Given the description of an element on the screen output the (x, y) to click on. 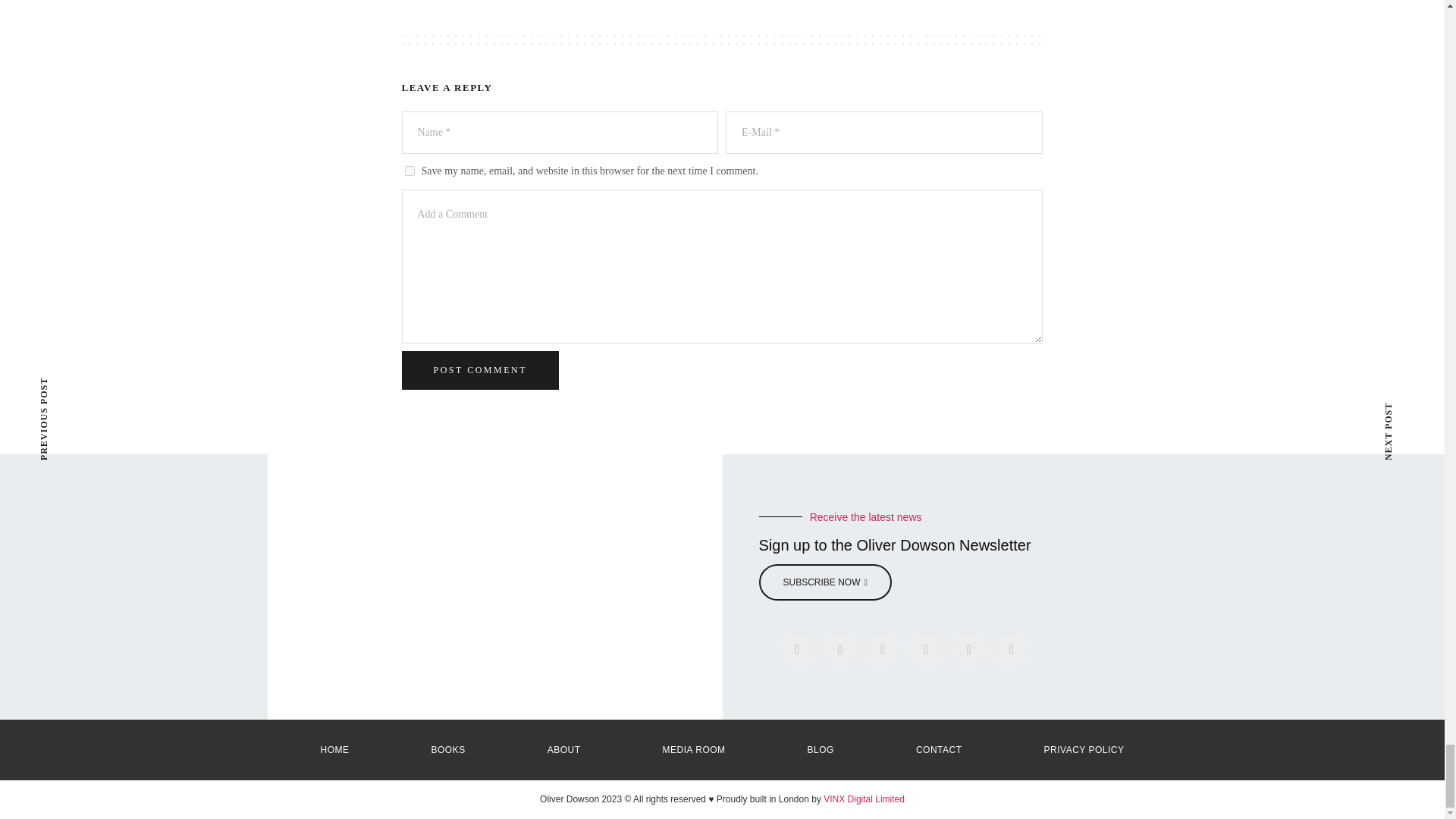
yes (409, 171)
Post comment (480, 370)
